Given the description of an element on the screen output the (x, y) to click on. 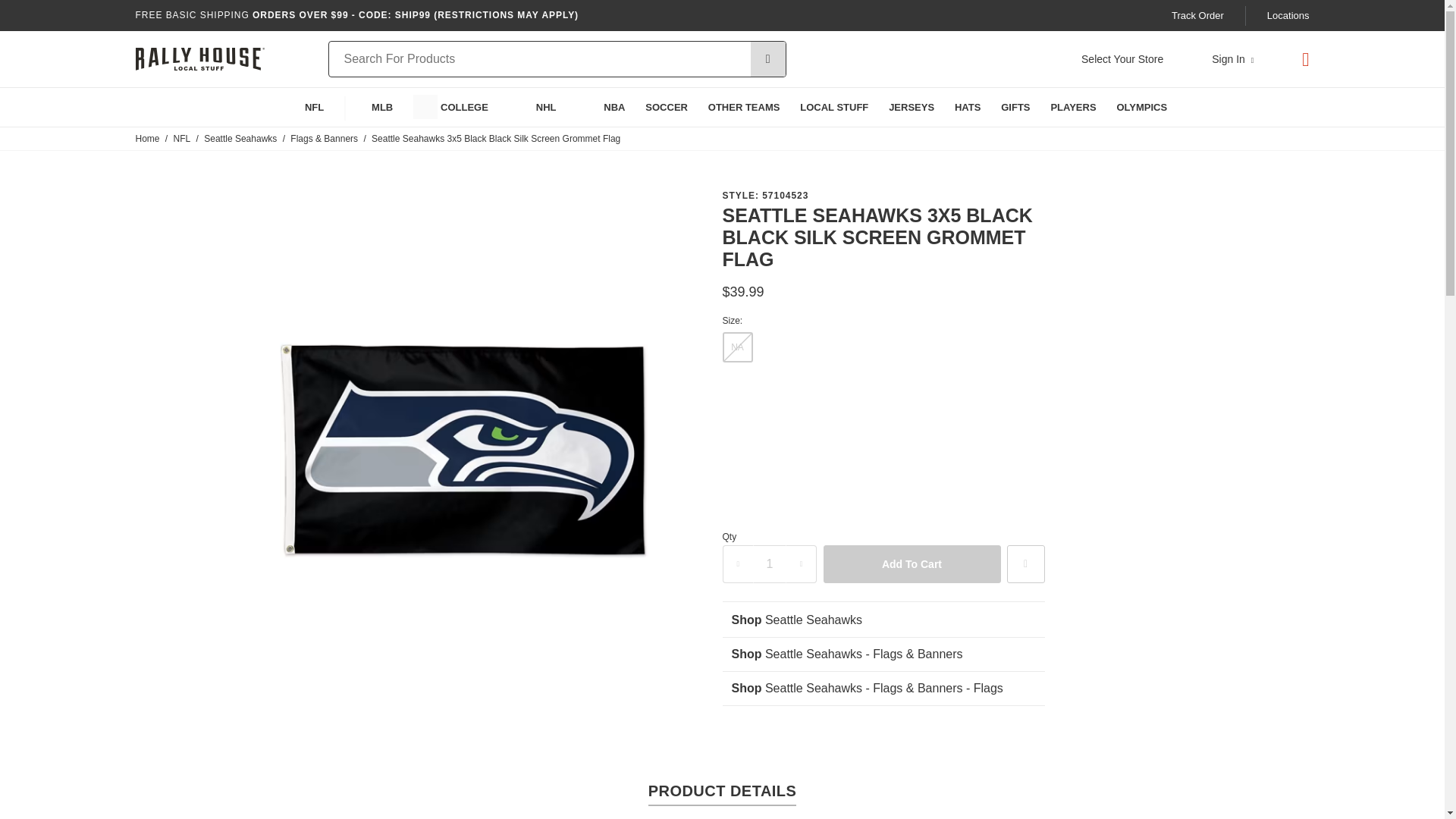
Sign In (1232, 59)
NA (737, 347)
Locations (1287, 15)
Add To Cart (912, 564)
Search (768, 58)
Size (882, 320)
Select Your Store (1122, 59)
Rally House (199, 59)
Track Order (1198, 15)
NFL (299, 106)
